Given the description of an element on the screen output the (x, y) to click on. 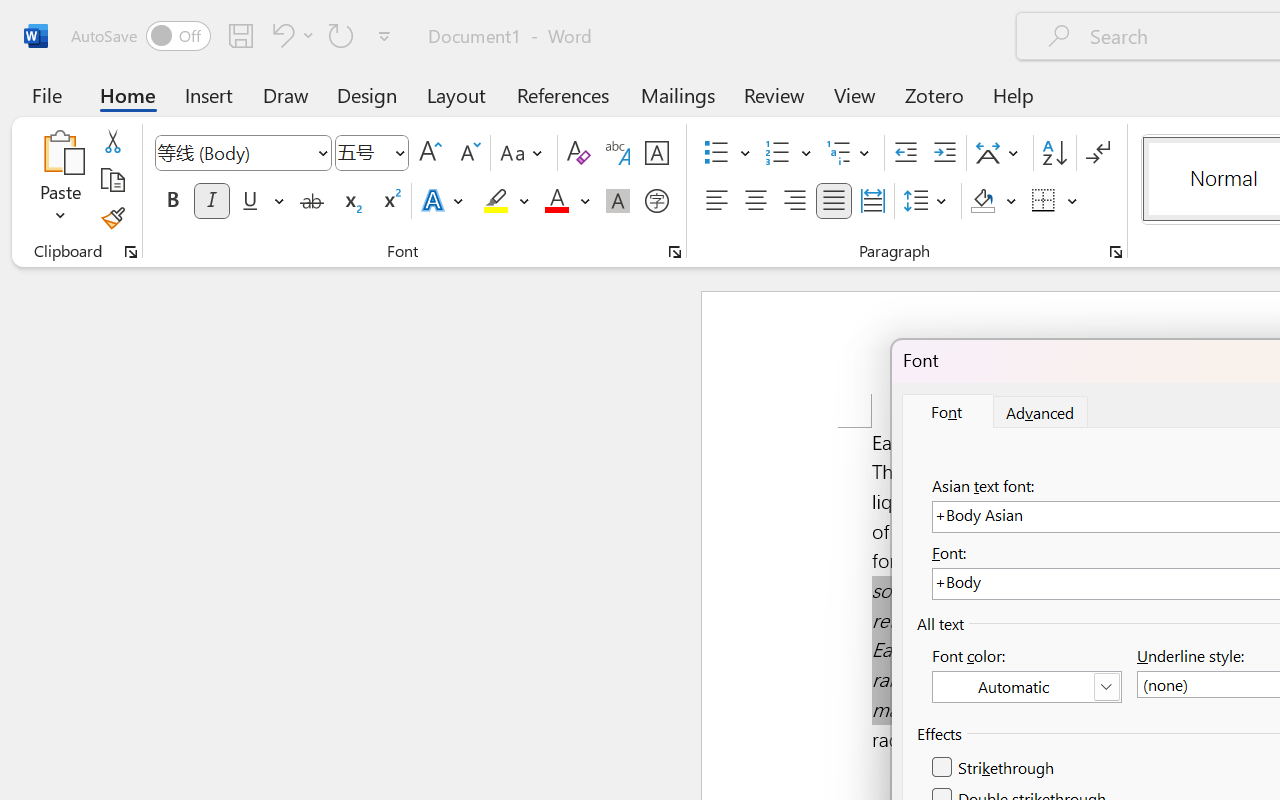
Character Shading (618, 201)
Text Highlight Color (506, 201)
Font... (675, 252)
Open (399, 152)
Text Highlight Color Yellow (495, 201)
Change Case (524, 153)
Advanced (1041, 411)
